Given the description of an element on the screen output the (x, y) to click on. 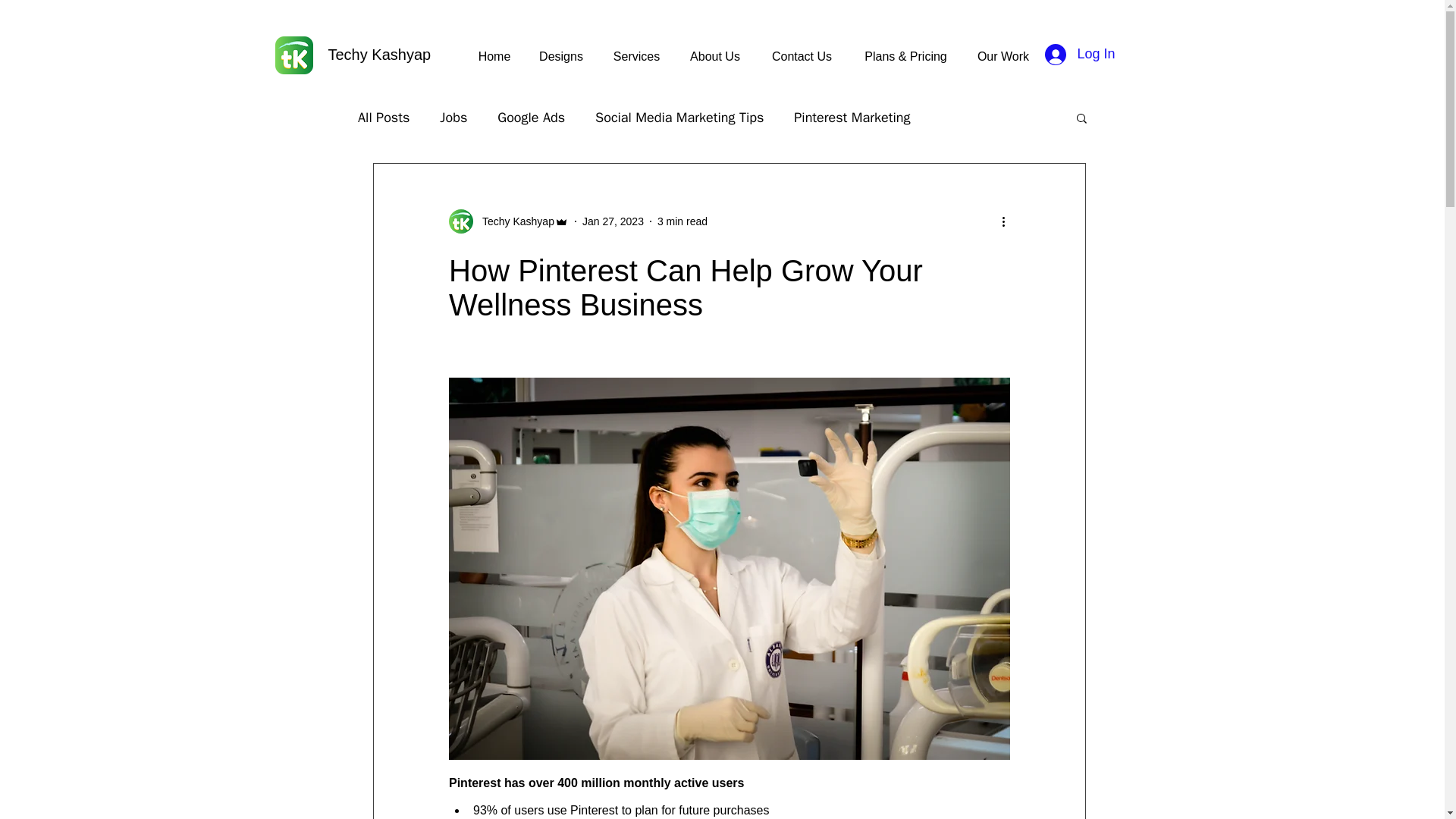
Jan 27, 2023 (612, 221)
Our Work (1002, 56)
Techy Kashyap (508, 221)
Log In (1079, 54)
Home (494, 56)
Social Media Marketing Tips (678, 117)
Jobs (453, 117)
3 min read (682, 221)
Techy Kashyap (513, 221)
Pinterest Marketing (851, 117)
